Given the description of an element on the screen output the (x, y) to click on. 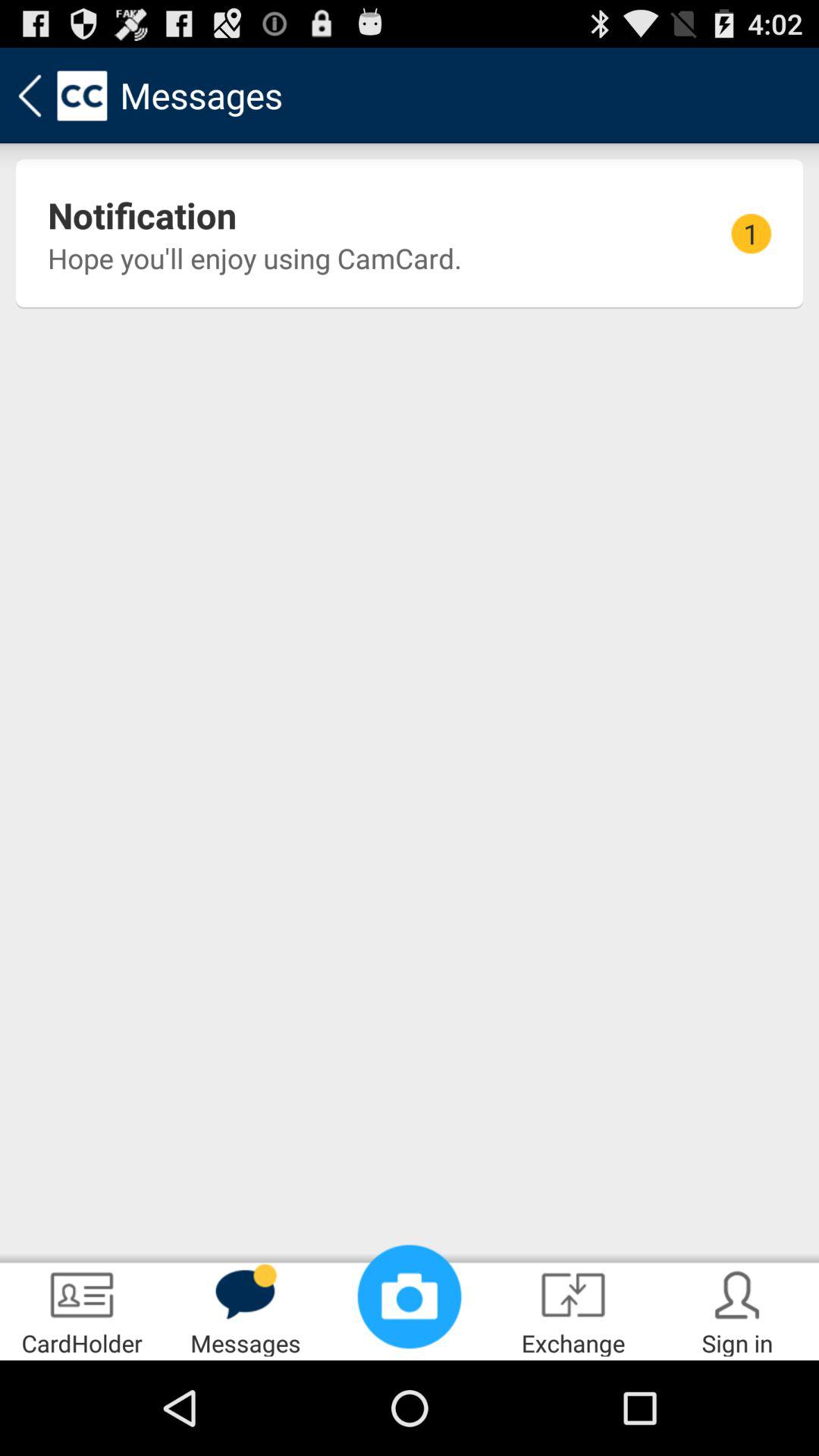
press the item above hope you ll app (141, 215)
